Given the description of an element on the screen output the (x, y) to click on. 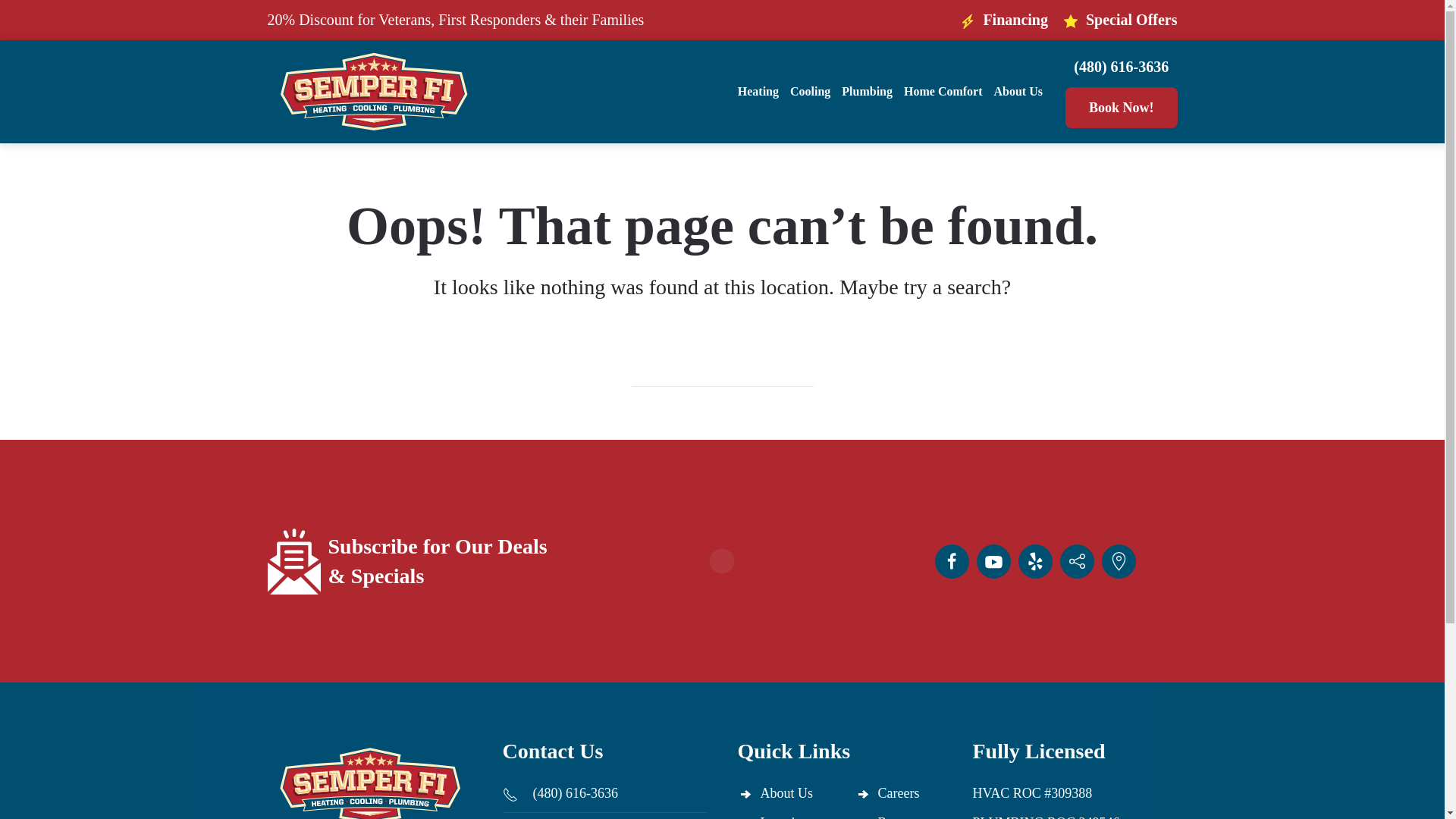
Heating (758, 91)
Special Offers (1119, 19)
Financing (1003, 19)
Plumbing (866, 91)
